Given the description of an element on the screen output the (x, y) to click on. 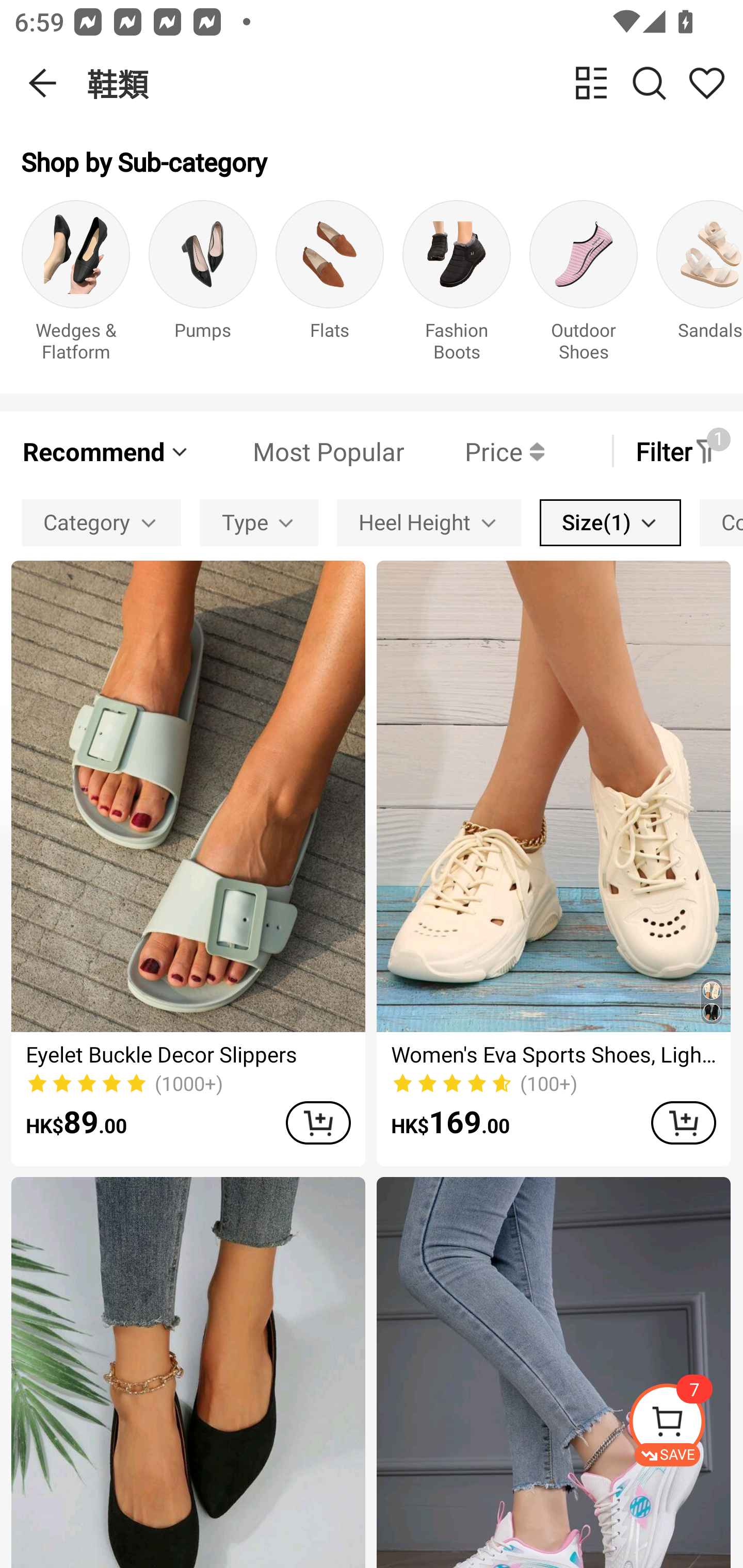
鞋類 change view Search Share (414, 82)
change view (591, 82)
Search (648, 82)
Share (706, 82)
Wedges & Flatform (75, 285)
Pumps (202, 285)
Flats (329, 285)
Fashion Boots (456, 285)
Outdoor Shoes (583, 285)
Sandals (699, 285)
Recommend (106, 450)
Most Popular (297, 450)
Price (474, 450)
Filter 1 (677, 450)
Category (101, 521)
Type (258, 521)
Heel Height (428, 521)
Size(1) (610, 521)
ADD TO CART (318, 1122)
ADD TO CART (683, 1122)
SAVE (685, 1424)
